Given the description of an element on the screen output the (x, y) to click on. 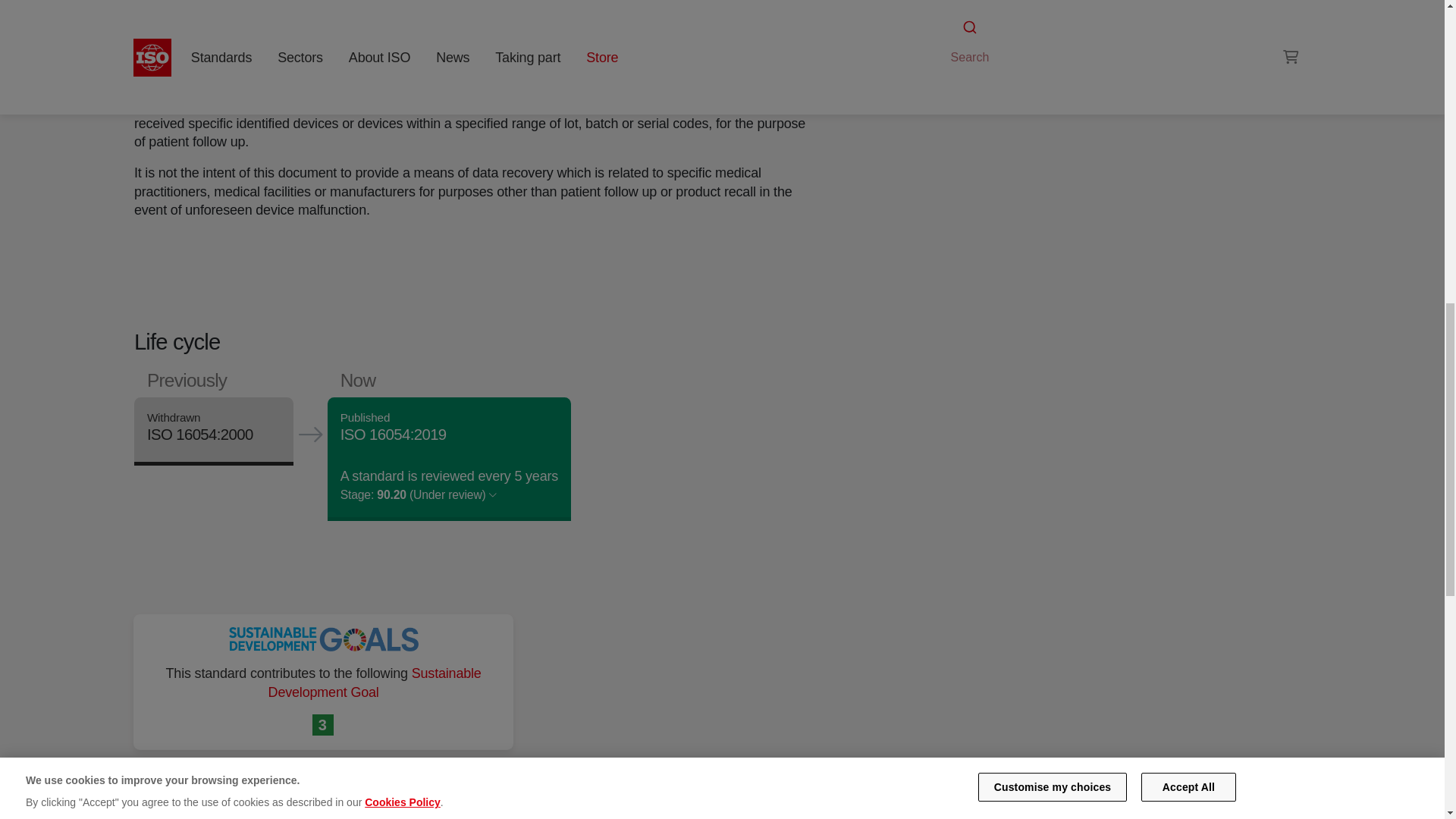
Good Health and Well-being (323, 725)
Implants for surgery, prosthetics and orthotics (997, 40)
11.040.40 (997, 40)
Implants for surgery (1104, 22)
RSS (956, 70)
